Given the description of an element on the screen output the (x, y) to click on. 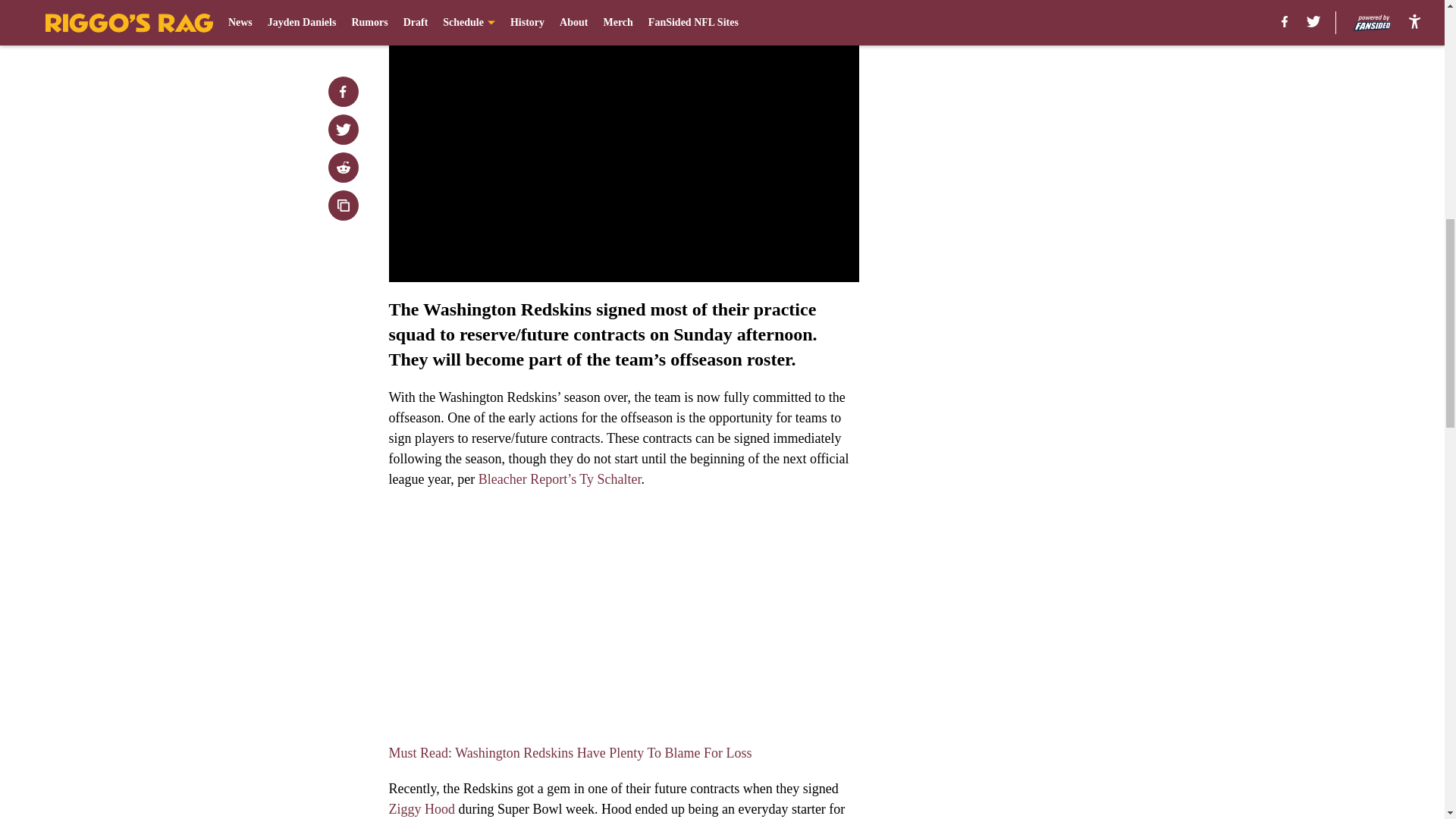
Must Read: Washington Redskins Have Plenty To Blame For Loss (569, 752)
Ziggy Hood (423, 808)
